Given the description of an element on the screen output the (x, y) to click on. 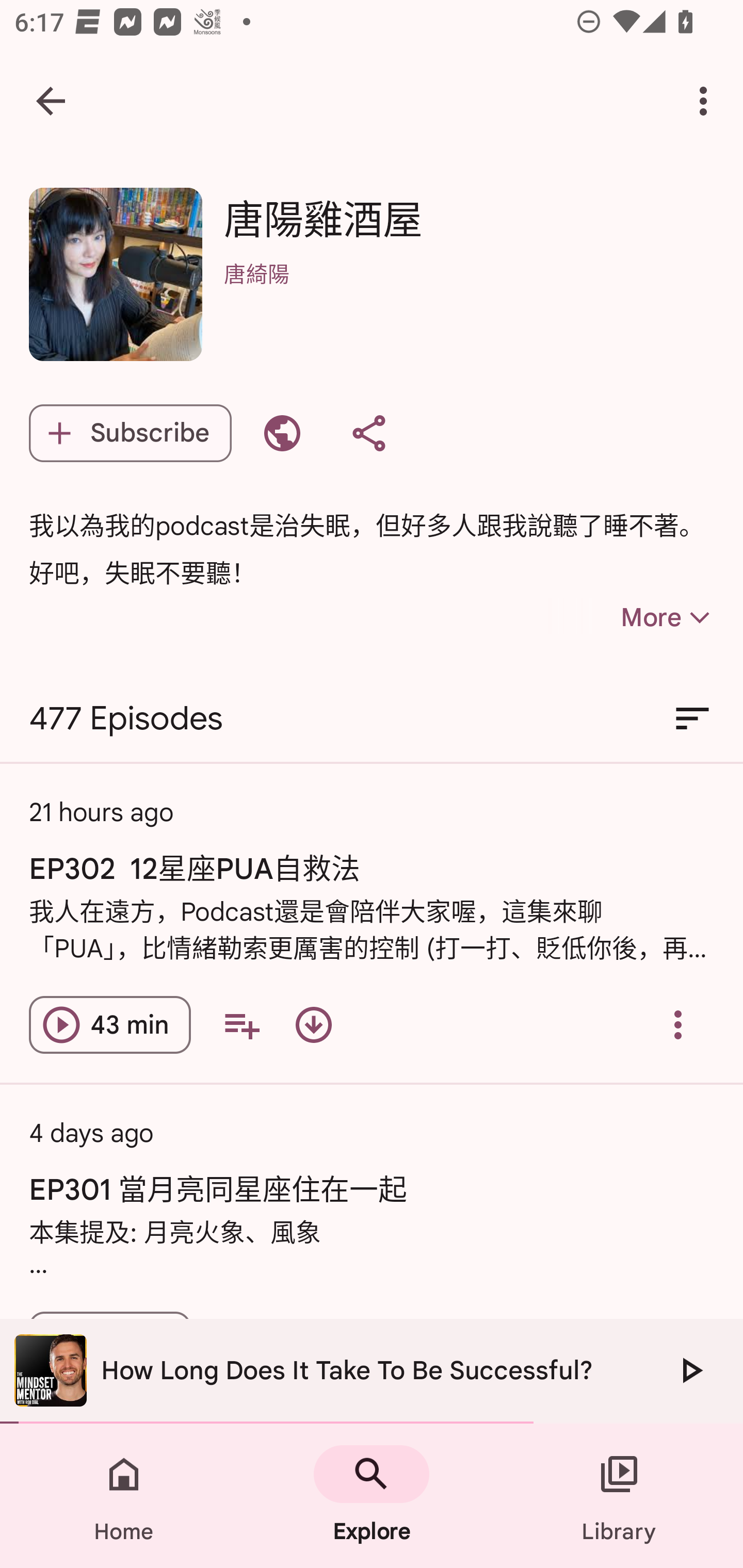
Navigate up (50, 101)
More options (706, 101)
唐綺陽 (468, 300)
Subscribe (129, 433)
Visit website (282, 433)
Share (368, 433)
More (631, 616)
Sort (692, 718)
Play episode EP302  12星座PUA自救法 43 min (109, 1024)
Add to your queue (241, 1024)
Download episode (313, 1024)
Overflow menu (677, 1024)
Play (690, 1370)
Home (123, 1495)
Library (619, 1495)
